Given the description of an element on the screen output the (x, y) to click on. 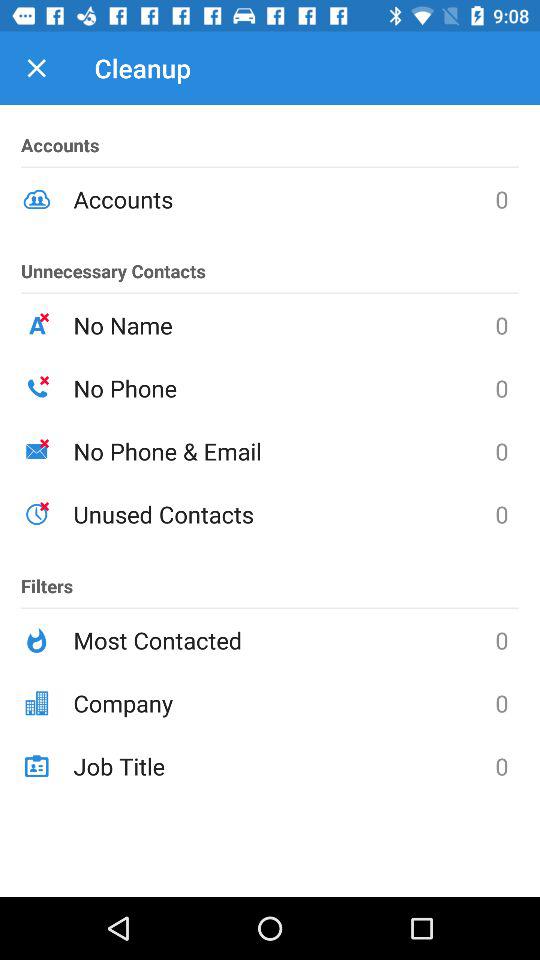
click the icon to the right of the filters icon (284, 639)
